Given the description of an element on the screen output the (x, y) to click on. 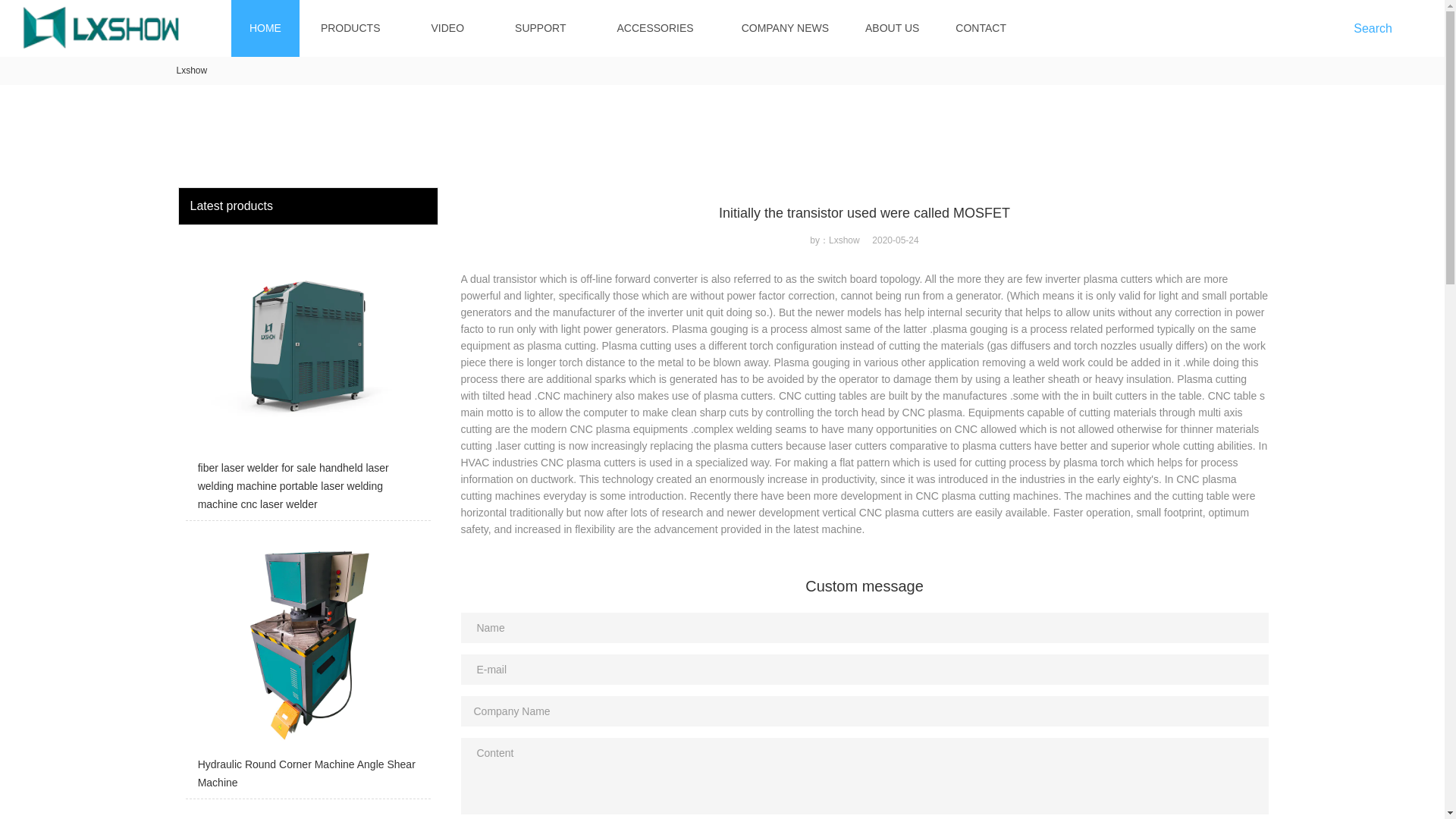
ABOUT US (891, 28)
COMPANY NEWS (784, 28)
Search   (1375, 28)
SUPPORT (540, 28)
ACCESSORIES (655, 28)
CONTACT (980, 28)
HOME (264, 28)
PRODUCTS (350, 28)
VIDEO (447, 28)
